Given the description of an element on the screen output the (x, y) to click on. 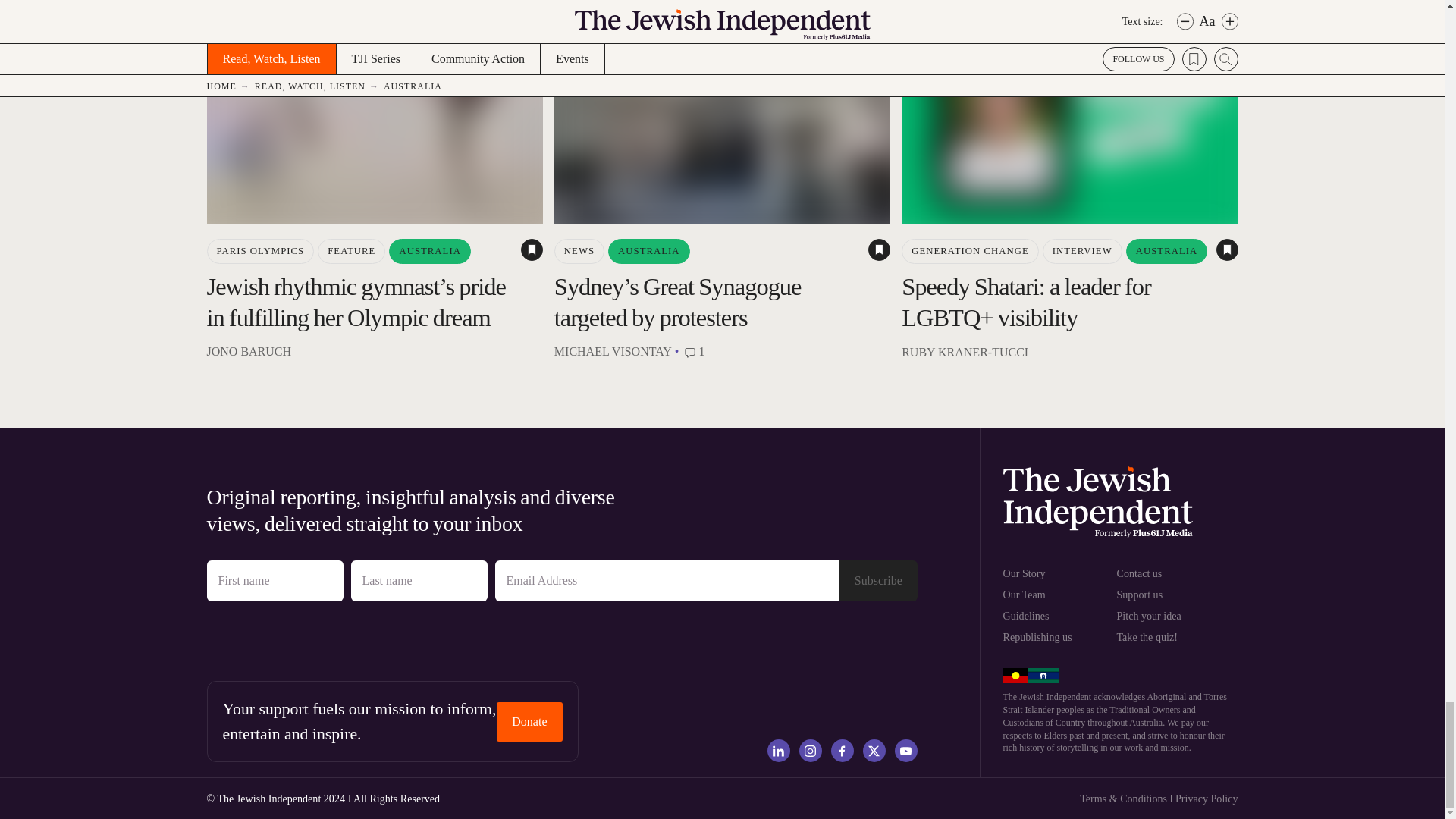
Add to your saved articles (532, 250)
Add to your saved articles (878, 250)
Add to your saved articles (1227, 250)
